Given the description of an element on the screen output the (x, y) to click on. 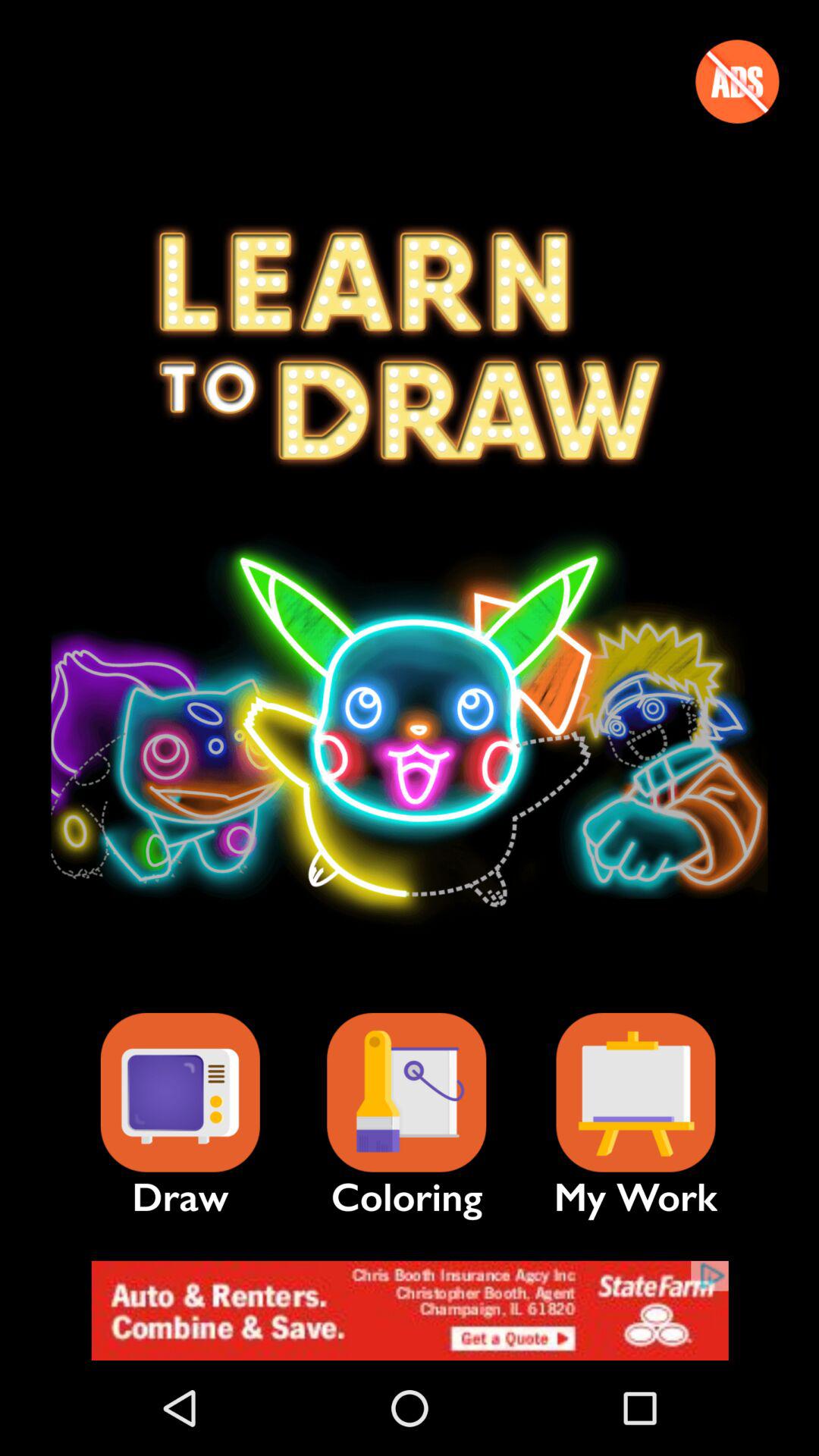
allows you to start drawing (179, 1092)
